Given the description of an element on the screen output the (x, y) to click on. 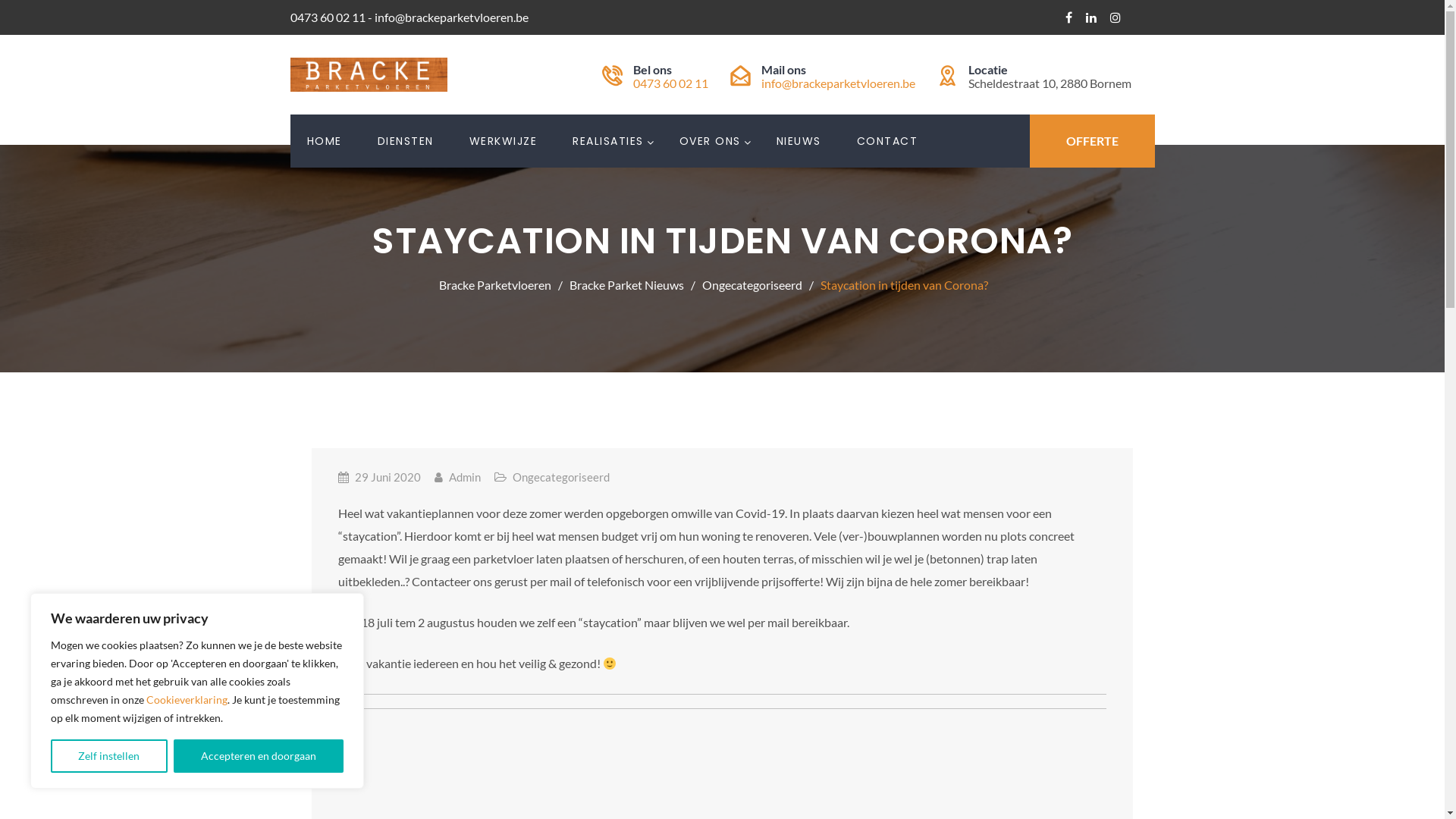
info@brackeparketvloeren.be Element type: text (838, 82)
Ongecategoriseerd Element type: text (560, 476)
Cookieverklaring Element type: text (186, 699)
0473 60 02 11 Element type: text (670, 82)
OFFERTE Element type: text (1091, 140)
DIENSTEN Element type: text (405, 140)
Accepteren en doorgaan Element type: text (257, 755)
Zelf instellen Element type: text (108, 755)
Ongecategoriseerd Element type: text (756, 284)
Bracke Parketvloeren Element type: text (498, 284)
Bracke Parket Nieuws Element type: text (630, 284)
REALISATIES Element type: text (607, 140)
WERKWIJZE Element type: text (502, 140)
NIEUWS Element type: text (798, 140)
HOME Element type: text (323, 140)
CONTACT Element type: text (887, 140)
OVER ONS Element type: text (709, 140)
